Given the description of an element on the screen output the (x, y) to click on. 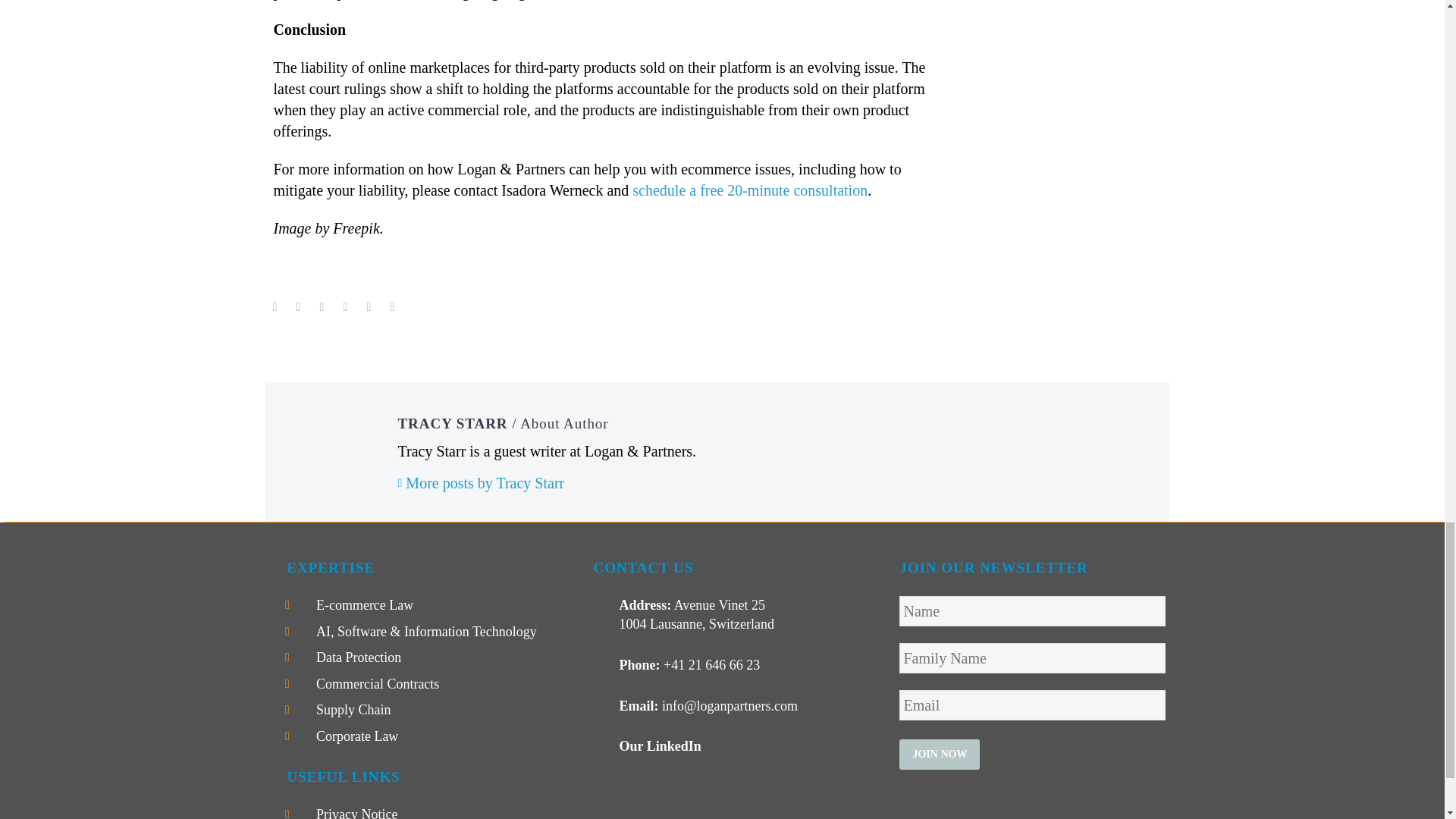
Facebook (274, 306)
schedule a free 20-minute consultation (749, 190)
Reddit (392, 306)
LinkedIn (368, 306)
More posts by Tracy Starr (480, 483)
Twitter (298, 306)
Pinterest (321, 306)
Tumblr (345, 306)
